Given the description of an element on the screen output the (x, y) to click on. 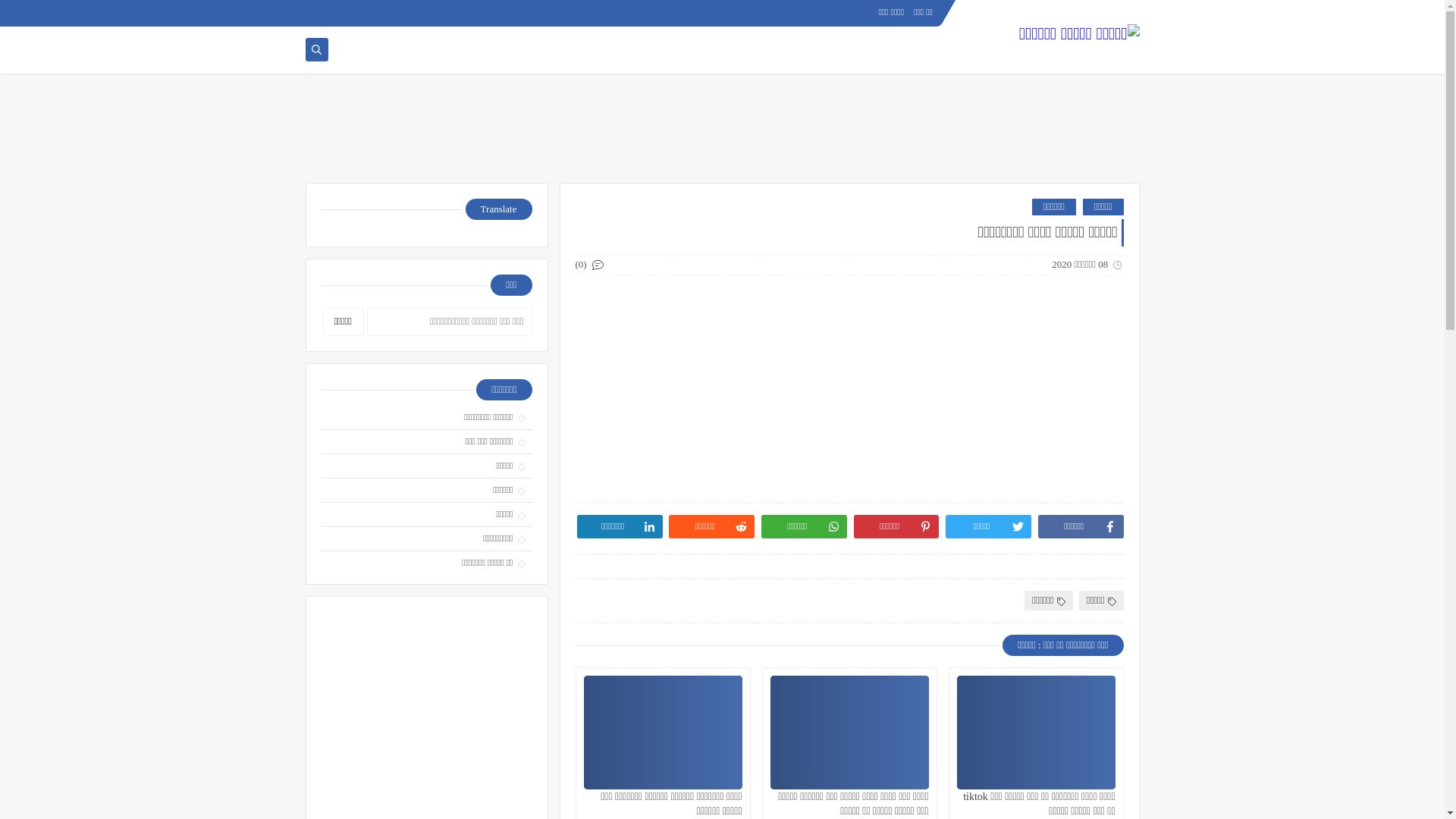
Advertisement Element type: hover (721, 134)
